Given the description of an element on the screen output the (x, y) to click on. 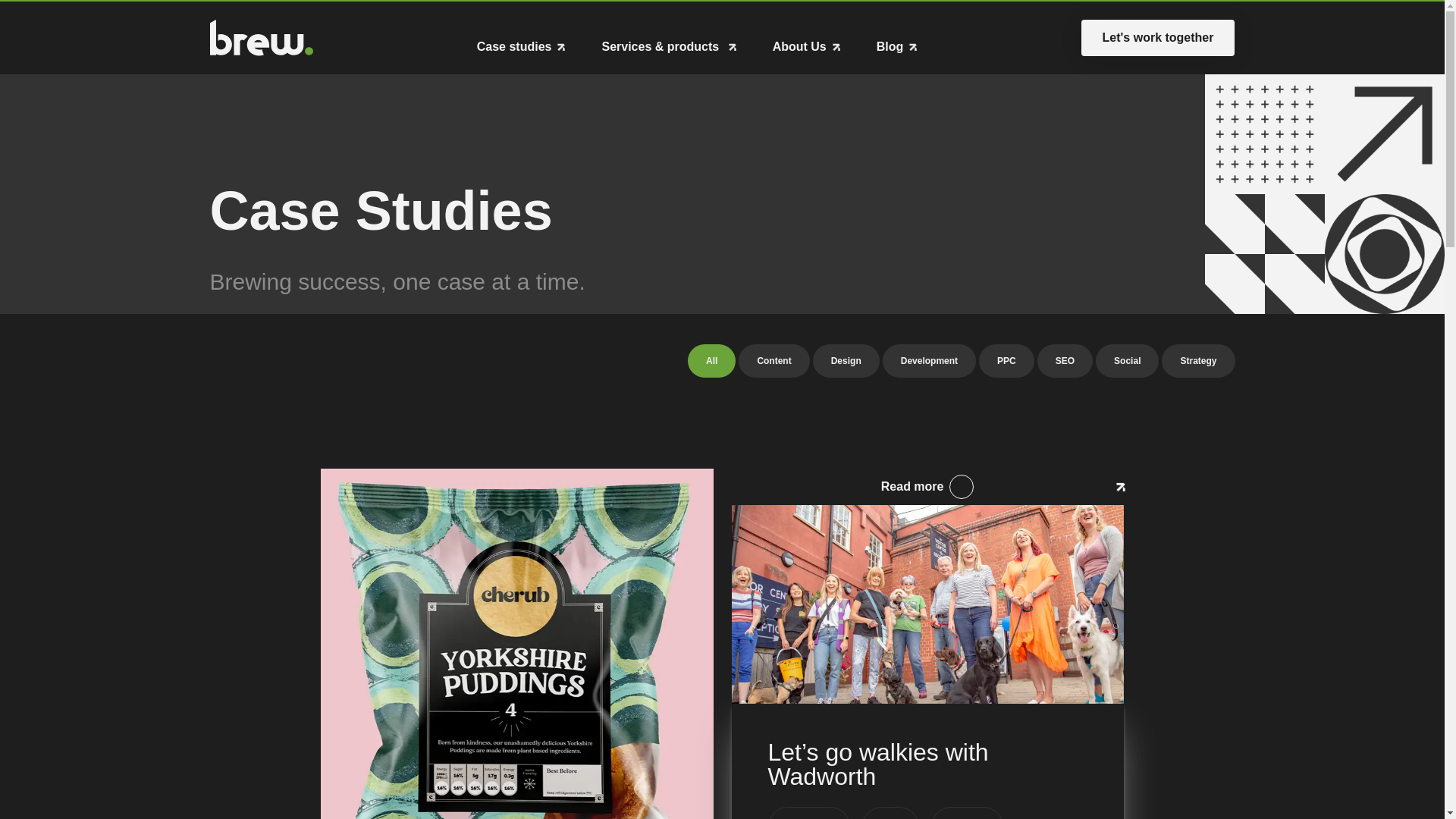
Design (845, 360)
Development (928, 360)
Strategy (1197, 360)
Case studies (521, 46)
SEO (1064, 360)
Social (1127, 360)
Let's work together (721, 360)
All (1157, 37)
